Given the description of an element on the screen output the (x, y) to click on. 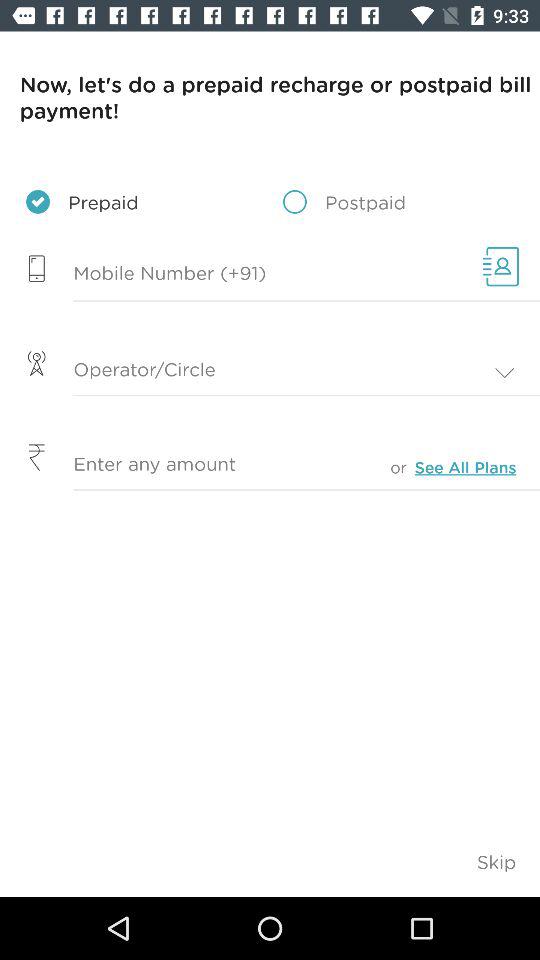
enter mobile number (236, 274)
